Given the description of an element on the screen output the (x, y) to click on. 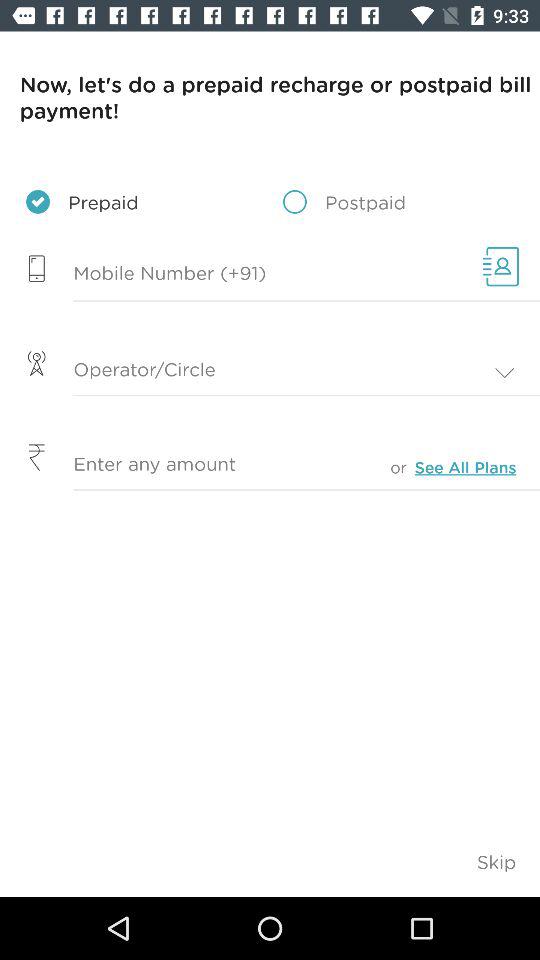
enter mobile number (236, 274)
